Given the description of an element on the screen output the (x, y) to click on. 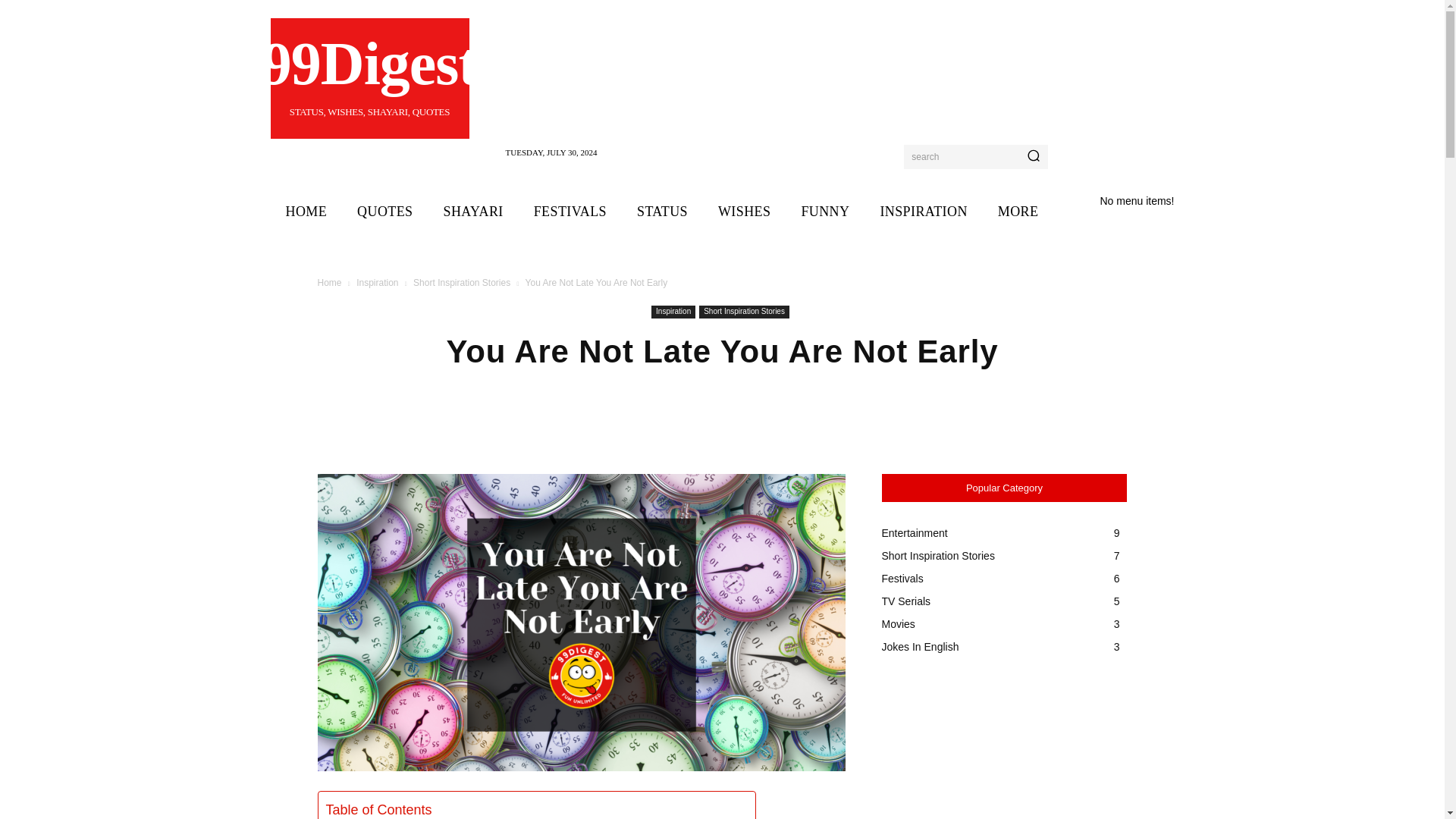
WISHES (744, 211)
INSPIRATION (922, 211)
FUNNY (368, 78)
SHAYARI (825, 211)
STATUS (473, 211)
FESTIVALS (662, 211)
QUOTES (569, 211)
HOME (385, 211)
View all posts in Short Inspiration Stories (305, 211)
View all posts in Inspiration (462, 282)
You Are Not Late You Are Not Early 99digest (376, 282)
